Given the description of an element on the screen output the (x, y) to click on. 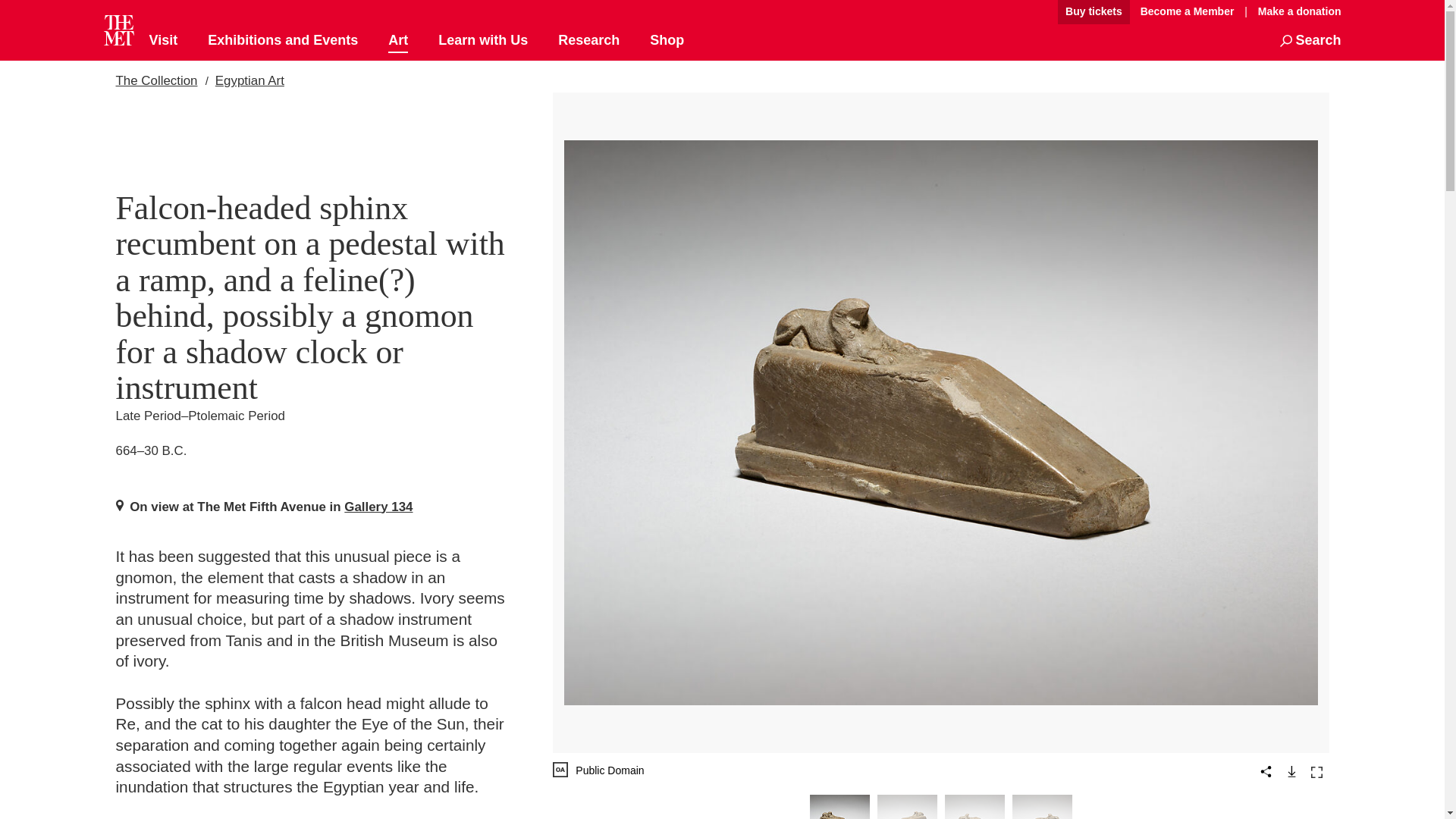
Enlarge image (1315, 771)
Exhibitions and Events (283, 41)
Learn with Us (482, 41)
Download (1291, 770)
Make a donation (1295, 11)
Homepage (118, 30)
The Collection (155, 80)
Jump to content (1005, 12)
tickets (1093, 12)
Member (1186, 12)
Search Button (1309, 41)
Search (1309, 41)
Research (588, 41)
Shop (666, 41)
Visit (162, 41)
